Given the description of an element on the screen output the (x, y) to click on. 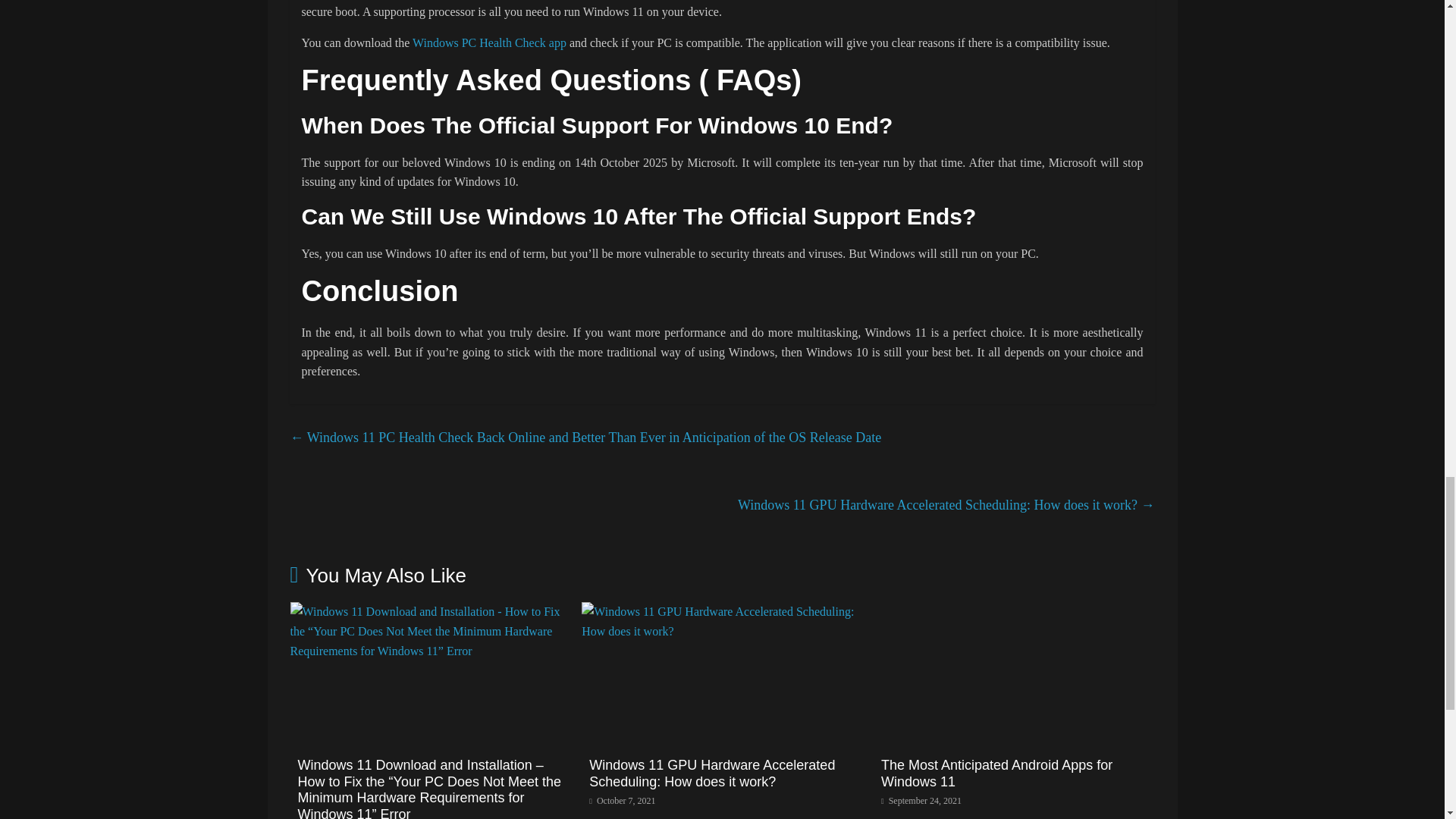
9:41 am (622, 800)
October 7, 2021 (622, 800)
The Most Anticipated Android Apps for Windows 11 (996, 773)
The Most Anticipated Android Apps for Windows 11 (1013, 611)
Windows PC Health Check app (489, 42)
The Most Anticipated Android Apps for Windows 11 (996, 773)
